Given the description of an element on the screen output the (x, y) to click on. 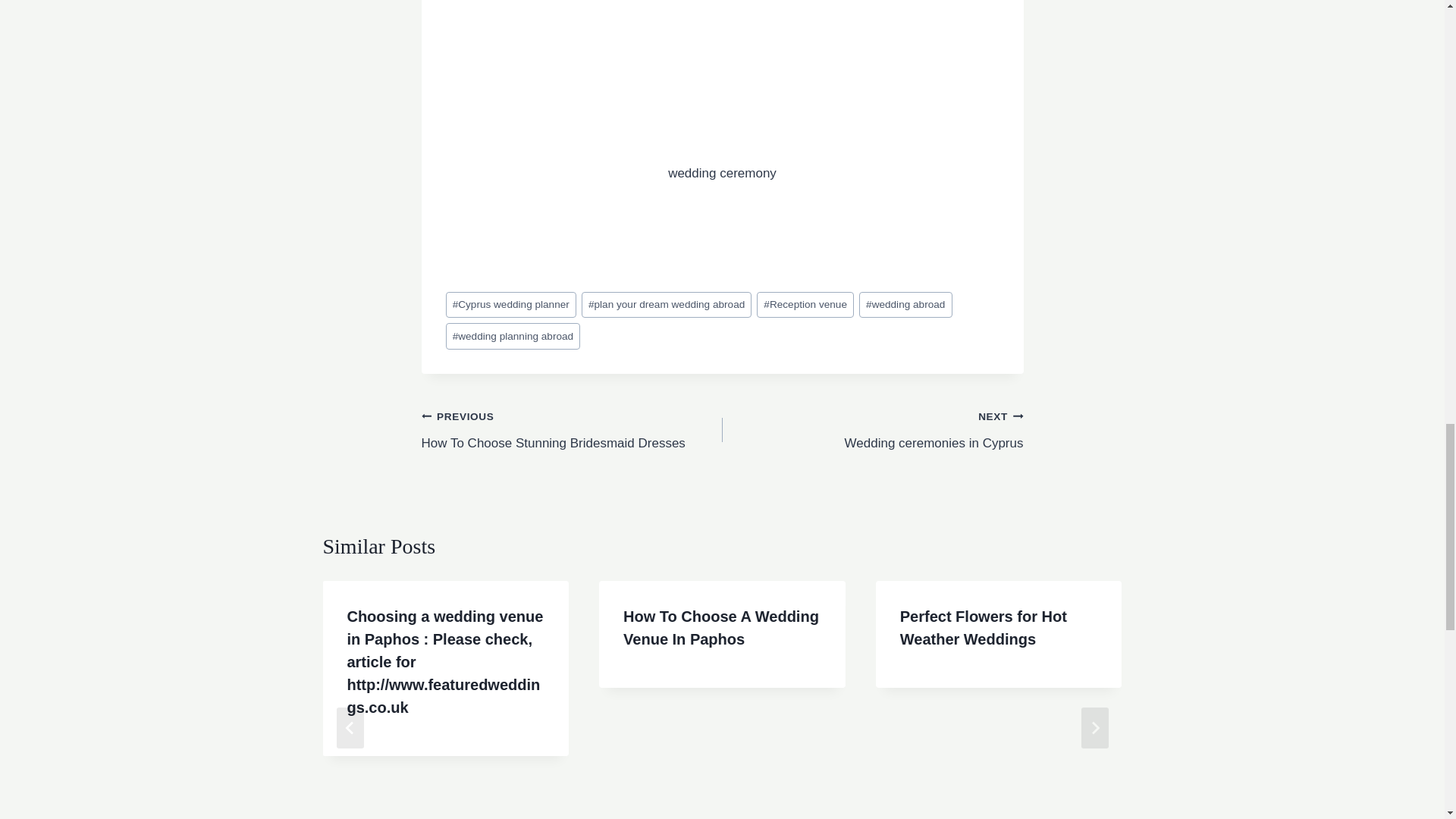
wedding abroad (905, 304)
Cyprus wedding planner (510, 304)
wedding planning abroad (512, 335)
Reception venue (805, 304)
plan your dream wedding abroad (666, 304)
